Given the description of an element on the screen output the (x, y) to click on. 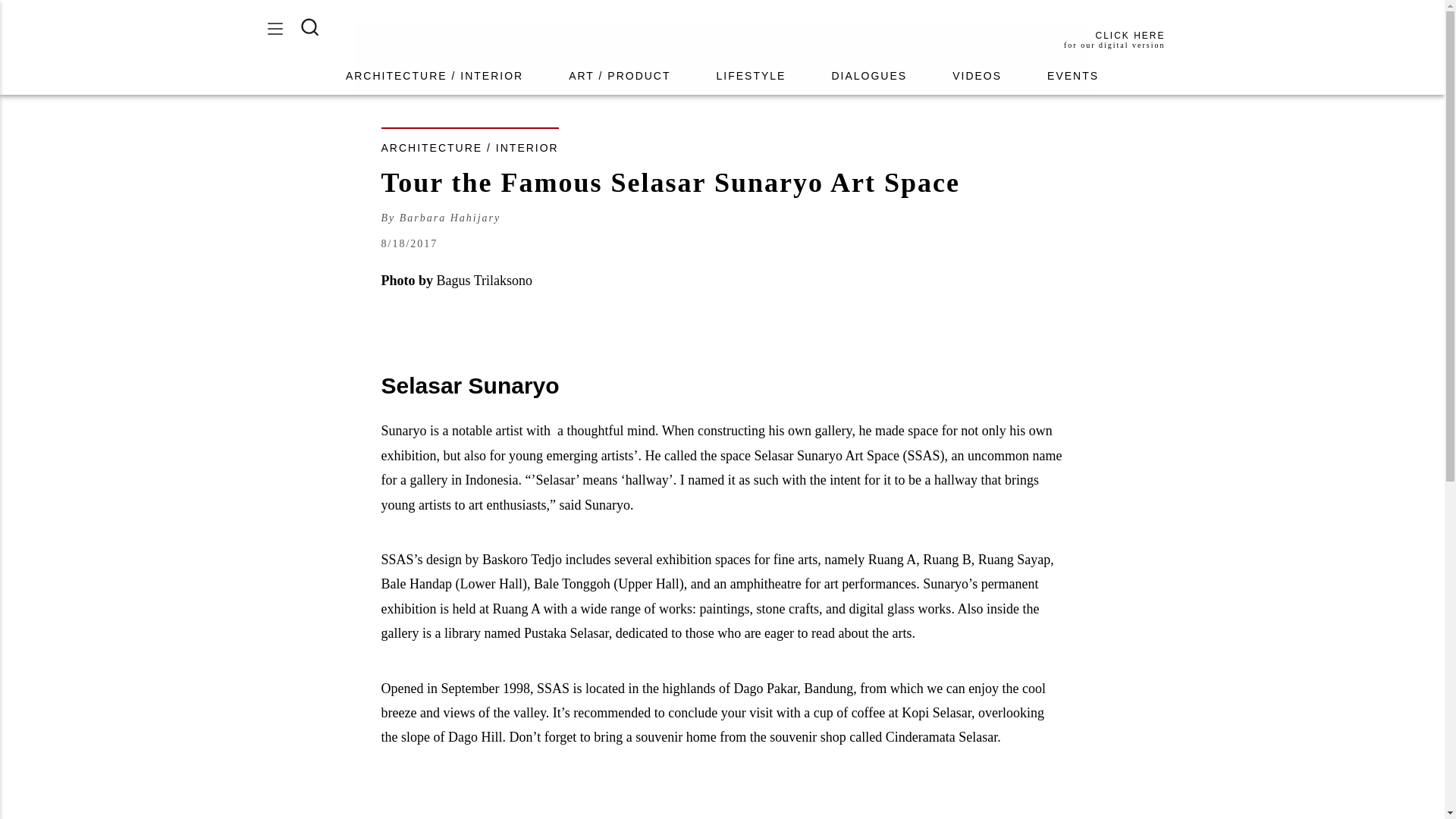
DIALOGUES (869, 75)
subscribe (1113, 39)
EVENTS (1073, 75)
Videos (977, 75)
LIFESTYLE (751, 75)
VIDEOS (977, 75)
Lifestyle (751, 75)
Events (1113, 39)
Barbara Hahijary (1073, 75)
Dialogues (449, 218)
